Given the description of an element on the screen output the (x, y) to click on. 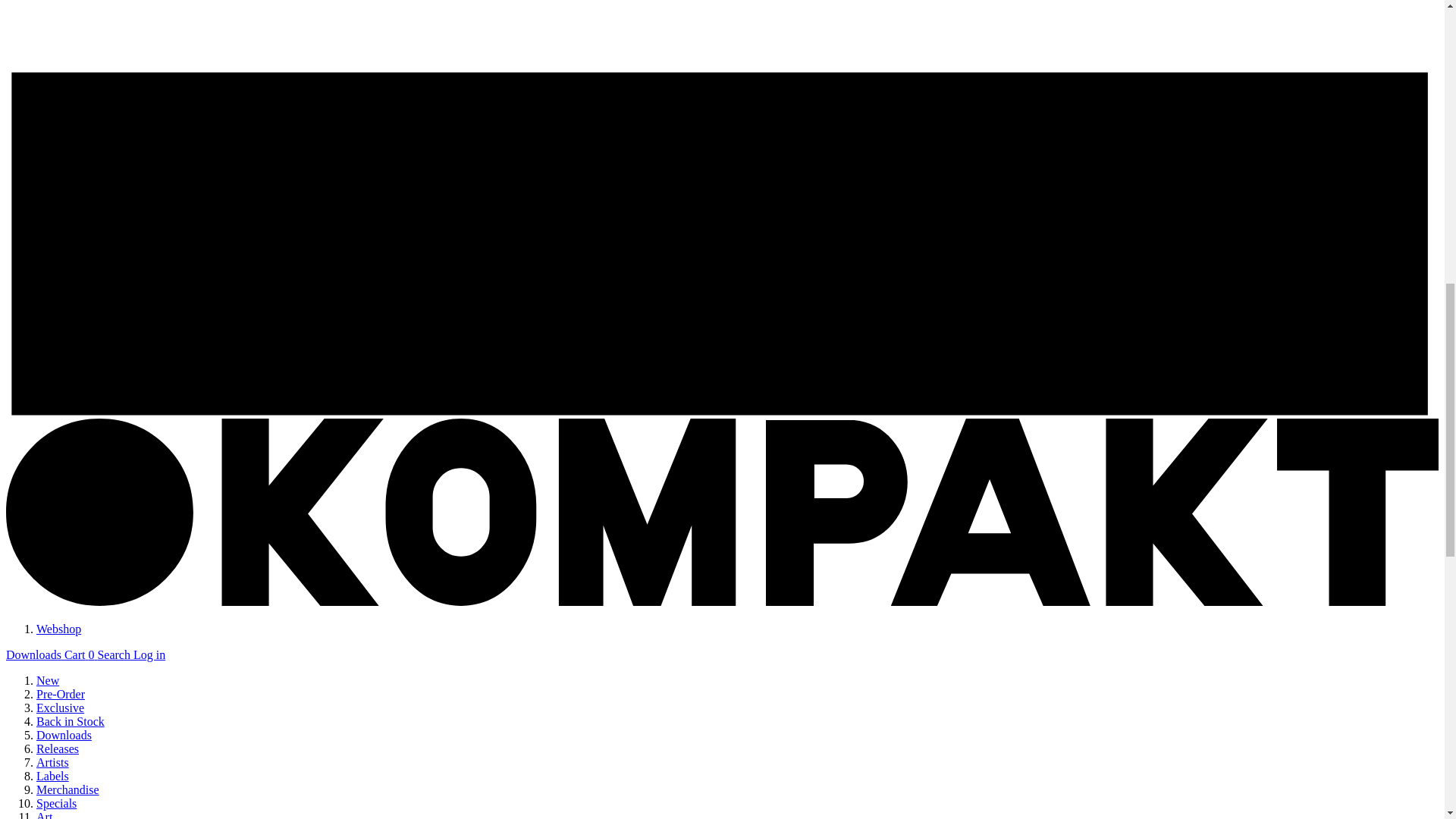
Log in (149, 654)
Log in (149, 654)
Downloads (34, 654)
Back in Stock (70, 721)
Merchandise (67, 789)
Artists (52, 762)
New (47, 680)
Downloads (63, 735)
Art (44, 814)
Exclusive (60, 707)
Webshop (58, 628)
Pre-Order (60, 694)
Labels (52, 775)
Specials (56, 802)
Releases (57, 748)
